Given the description of an element on the screen output the (x, y) to click on. 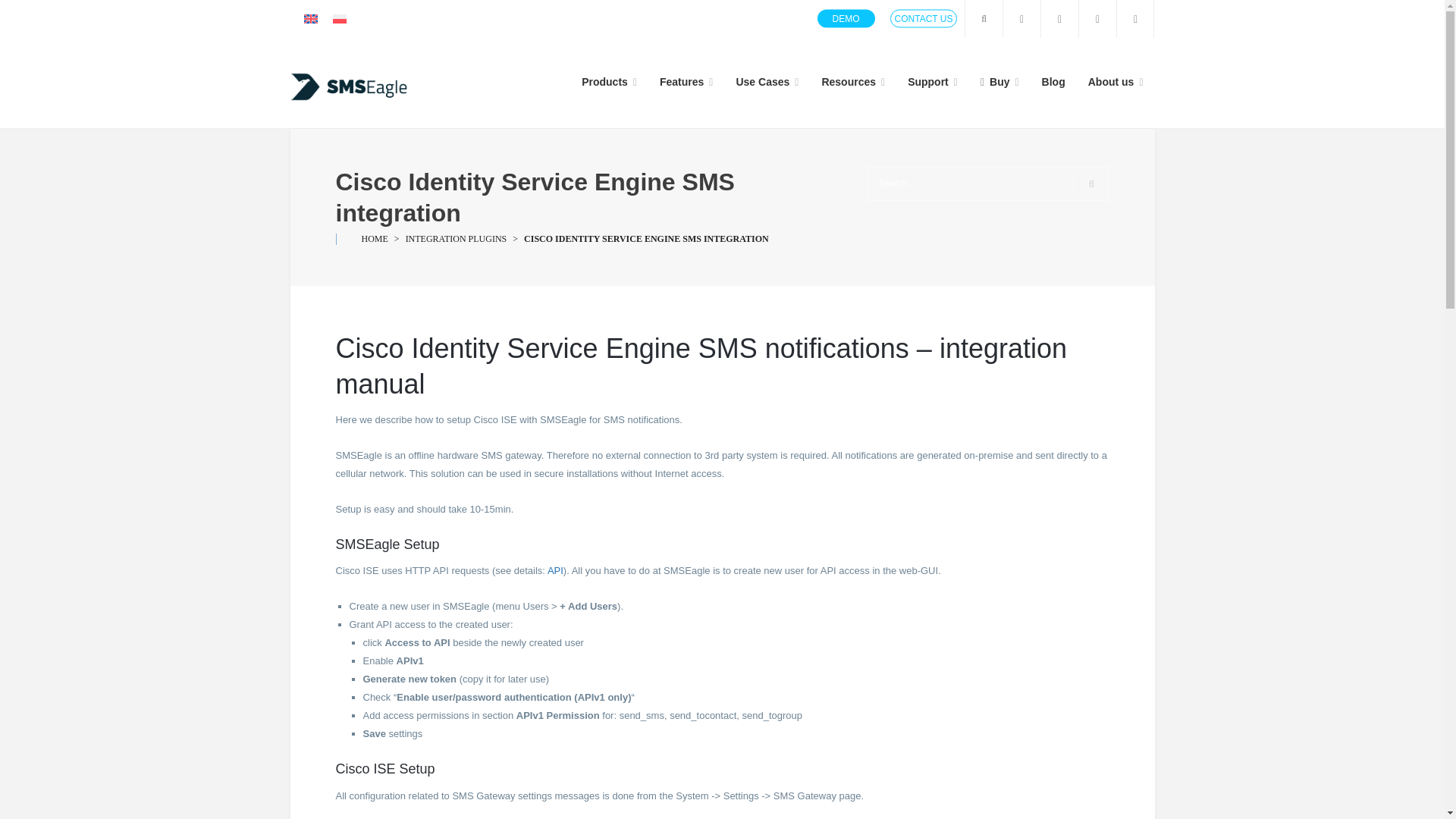
DEMO (845, 18)
CONTACT US (923, 18)
Integration plugins (456, 238)
Cisco Identity Service Engine SMS integration (646, 238)
